Given the description of an element on the screen output the (x, y) to click on. 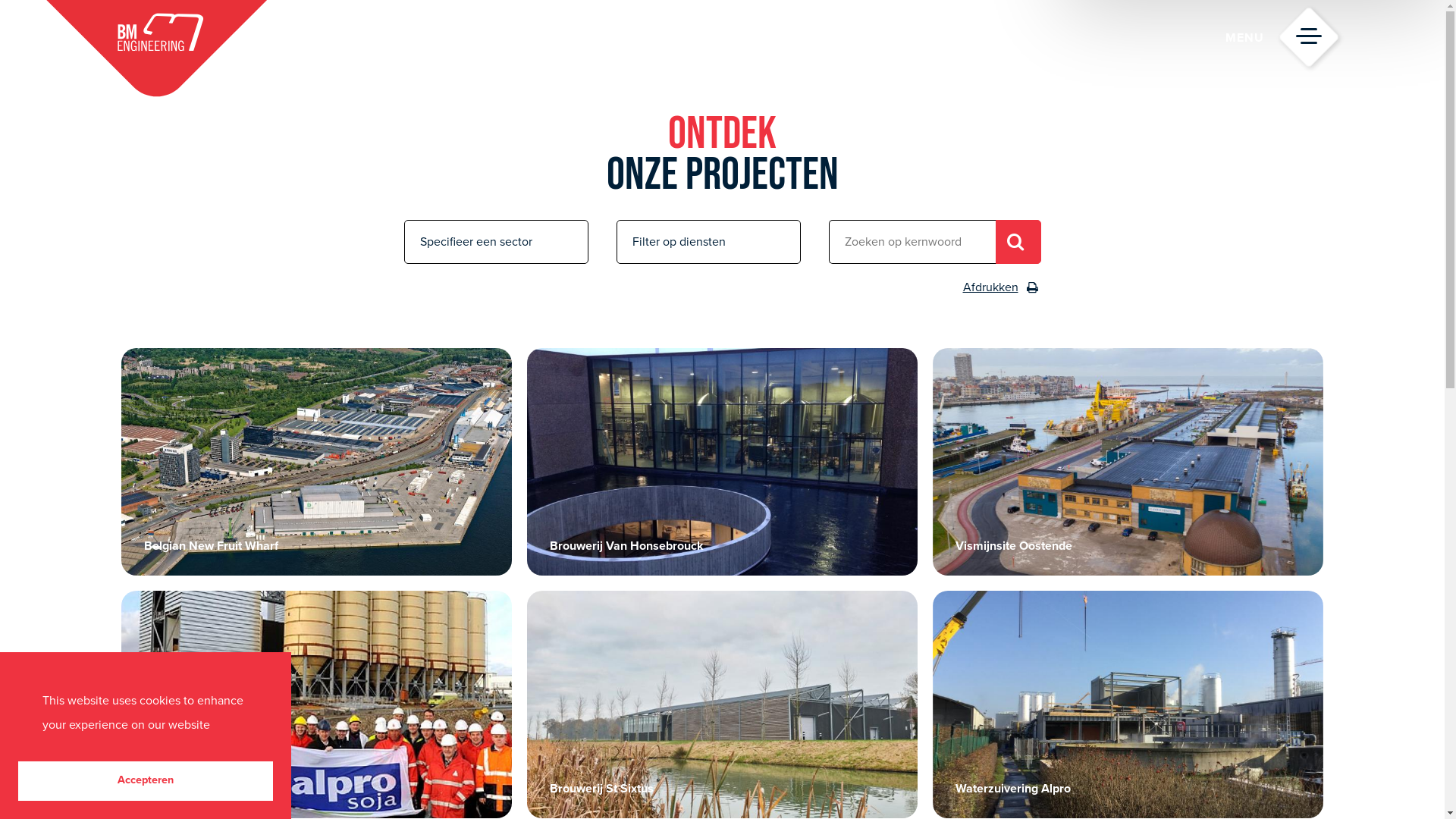
Toepassen Element type: text (1017, 241)
Afdrukken Element type: text (1002, 286)
Belgian New Fruit Wharf Element type: text (211, 545)
Vismijnsite Oostende Element type: text (1013, 545)
Waterzuivering Alpro Element type: text (1012, 788)
Brouwerij St Sixtus Element type: text (601, 788)
Brouwerij Van Honsebrouck Element type: text (626, 545)
Alpro ROB - bonen Element type: text (194, 788)
Accepteren Element type: text (145, 780)
